Given the description of an element on the screen output the (x, y) to click on. 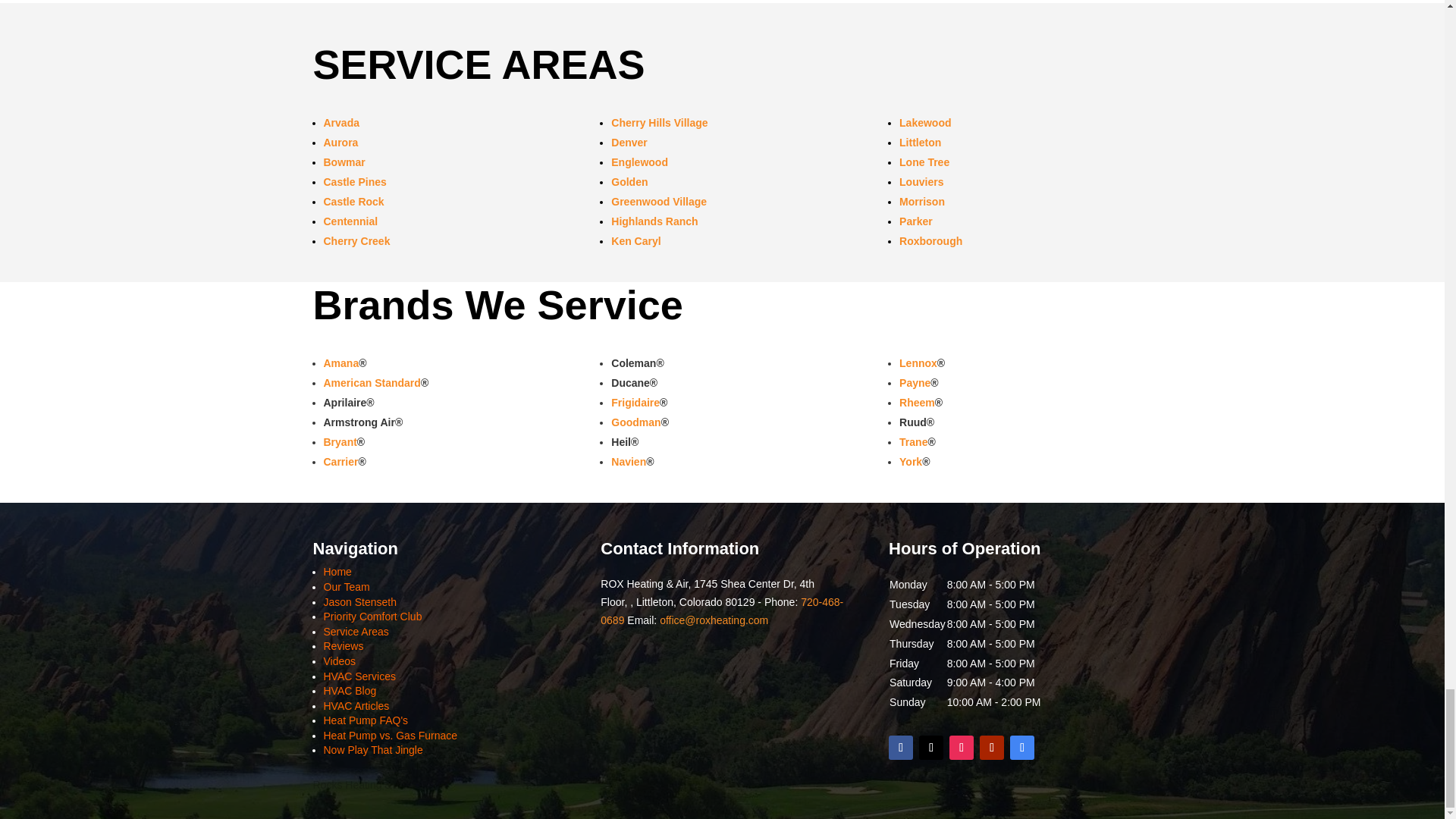
Englewood HVAC Company (639, 162)
Follow on Facebook (900, 747)
Heat Pump FAQ's (365, 720)
HVAC Blog (349, 690)
